Given the description of an element on the screen output the (x, y) to click on. 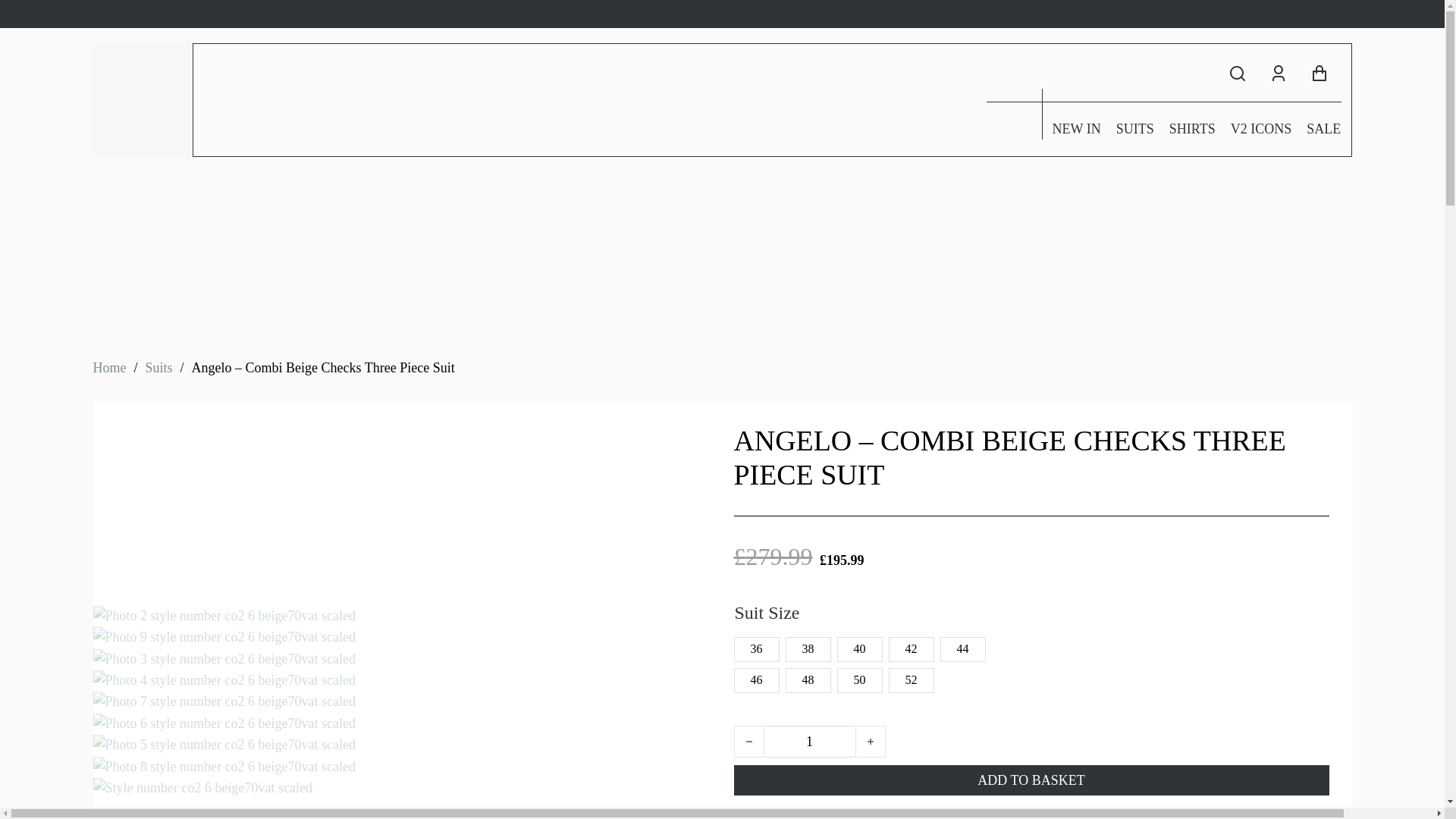
NEW IN (1076, 128)
1 (810, 741)
